Given the description of an element on the screen output the (x, y) to click on. 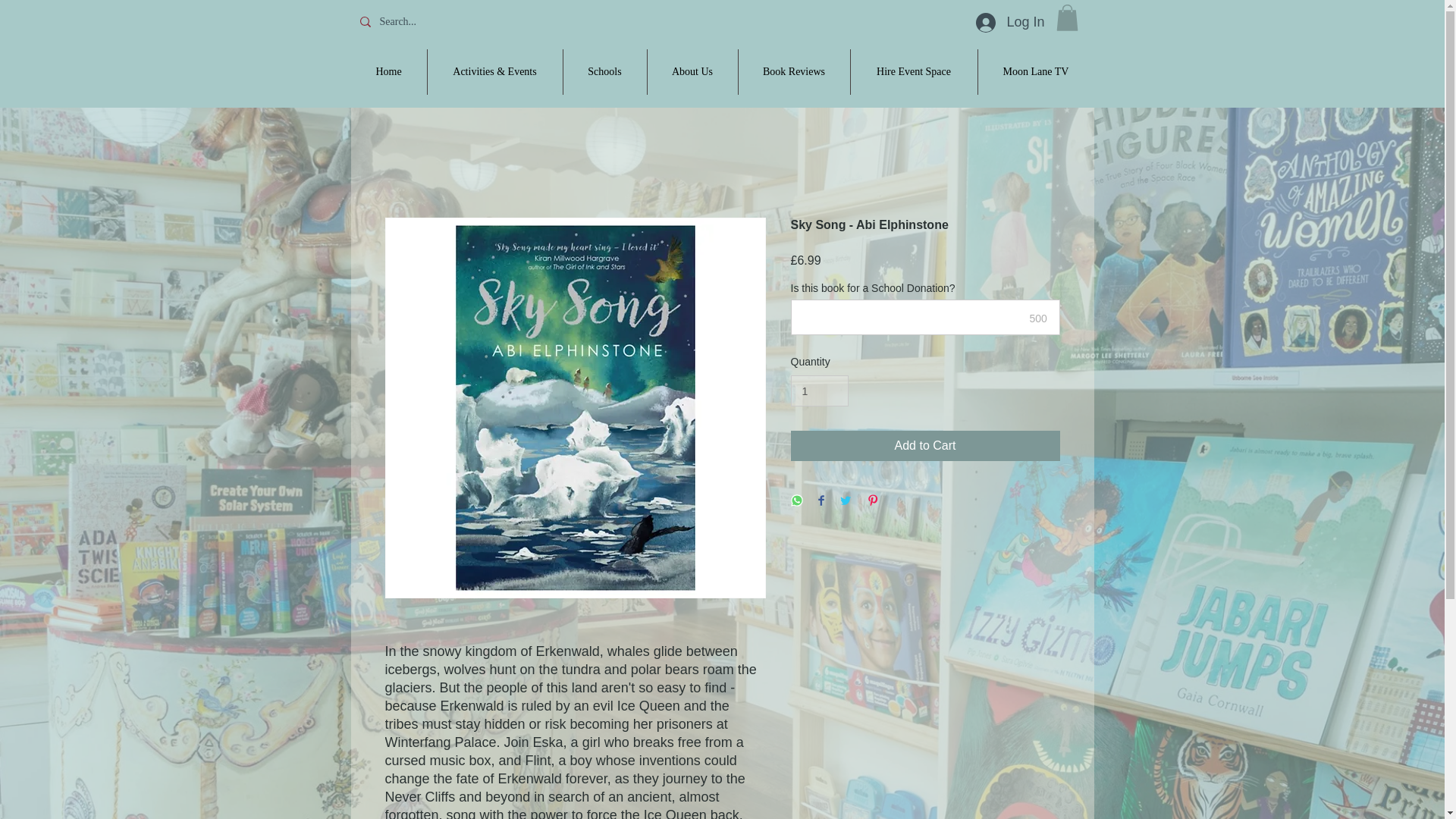
Hire Event Space (913, 72)
Moon Lane TV (1036, 72)
1 (818, 390)
Book Reviews (794, 72)
About Us (692, 72)
Add to Cart (924, 445)
Log In (1009, 22)
Home (388, 72)
Schools (604, 72)
